Given the description of an element on the screen output the (x, y) to click on. 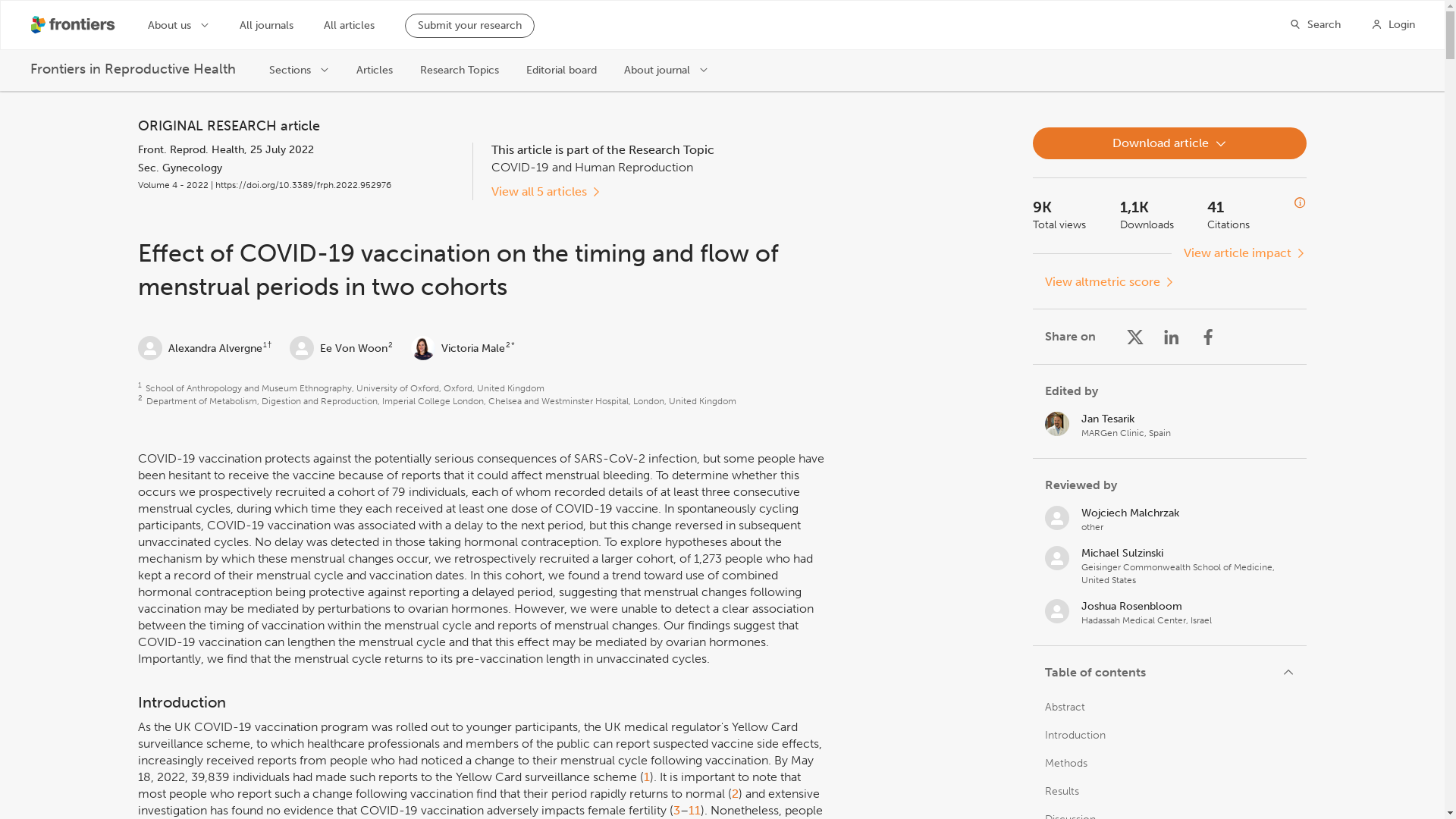
Share on X (1134, 336)
All articles (348, 25)
All journals (267, 25)
Login (1393, 24)
Share on Linkedin (1170, 336)
Submit your research (469, 25)
About us (178, 24)
Search (1314, 24)
Share on Facebook (1207, 336)
